Given the description of an element on the screen output the (x, y) to click on. 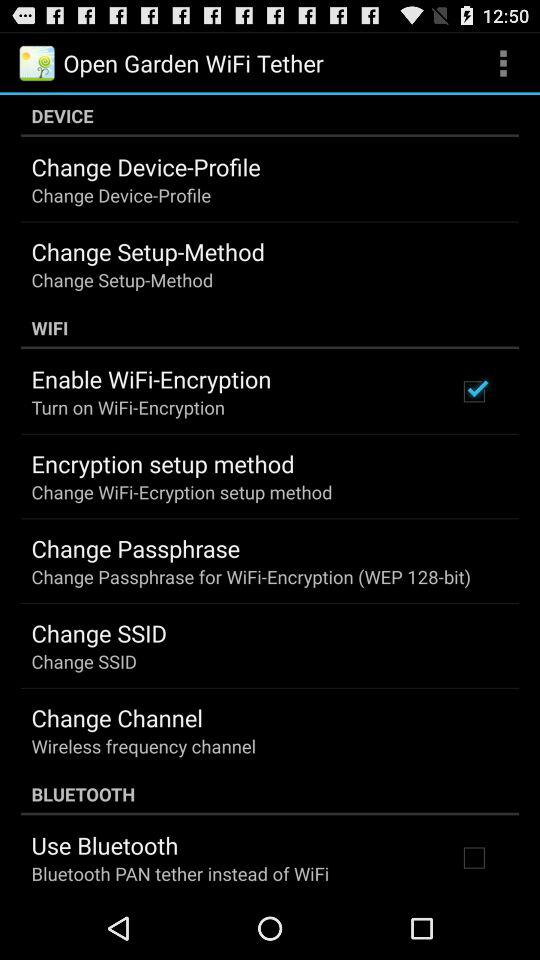
tap the item at the top right corner (503, 62)
